Given the description of an element on the screen output the (x, y) to click on. 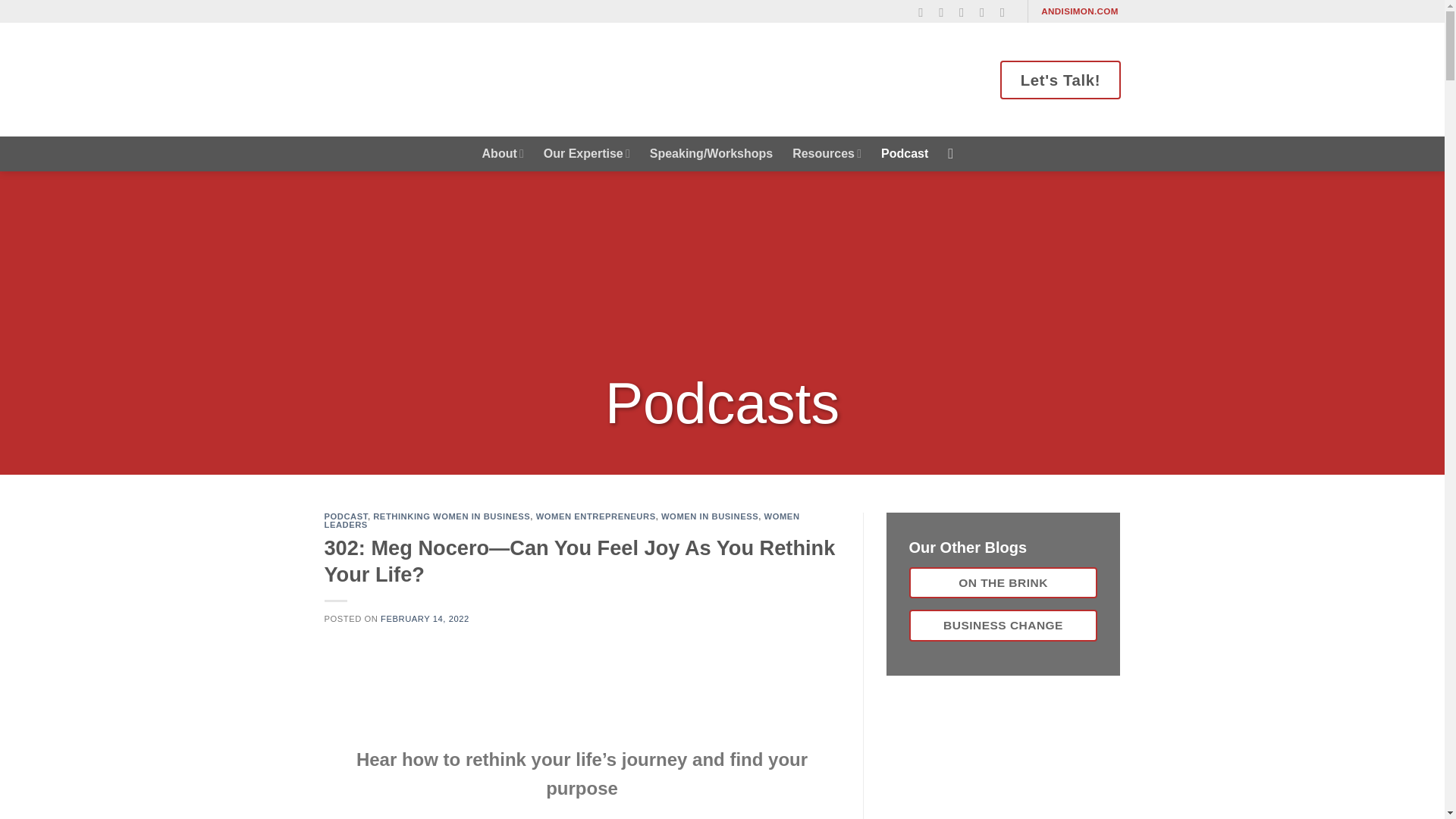
Our Expertise (586, 153)
Follow on Twitter (965, 11)
Follow on Facebook (924, 11)
Resources (826, 153)
About (502, 153)
Podcast (904, 153)
Follow on YouTube (1006, 11)
Simon Associates - Management Consultants (456, 78)
Follow on LinkedIn (985, 11)
Let's Talk! (1059, 79)
Follow on Instagram (945, 11)
ANDISIMON.COM (1080, 11)
